Given the description of an element on the screen output the (x, y) to click on. 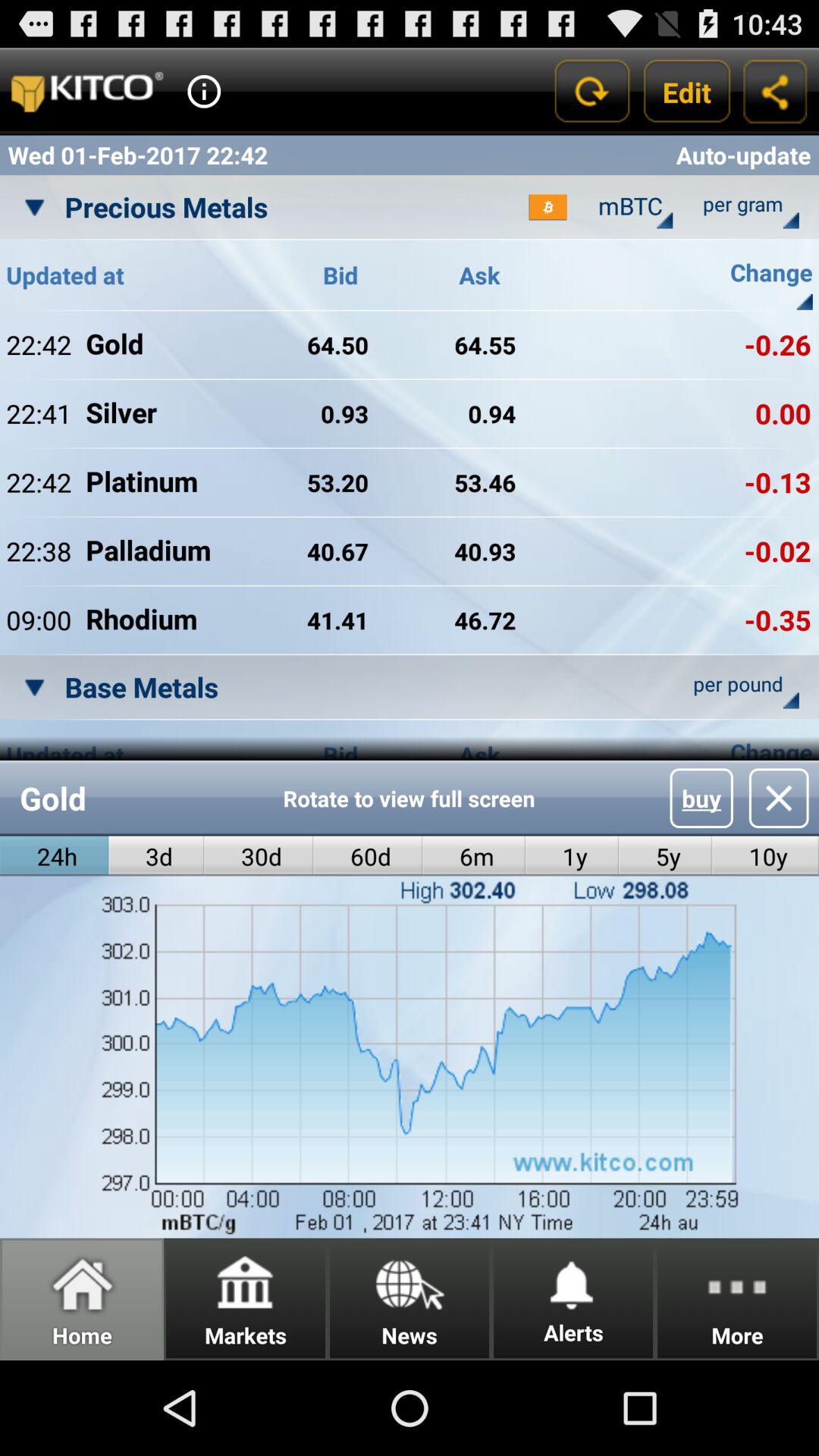
show info (204, 91)
